Given the description of an element on the screen output the (x, y) to click on. 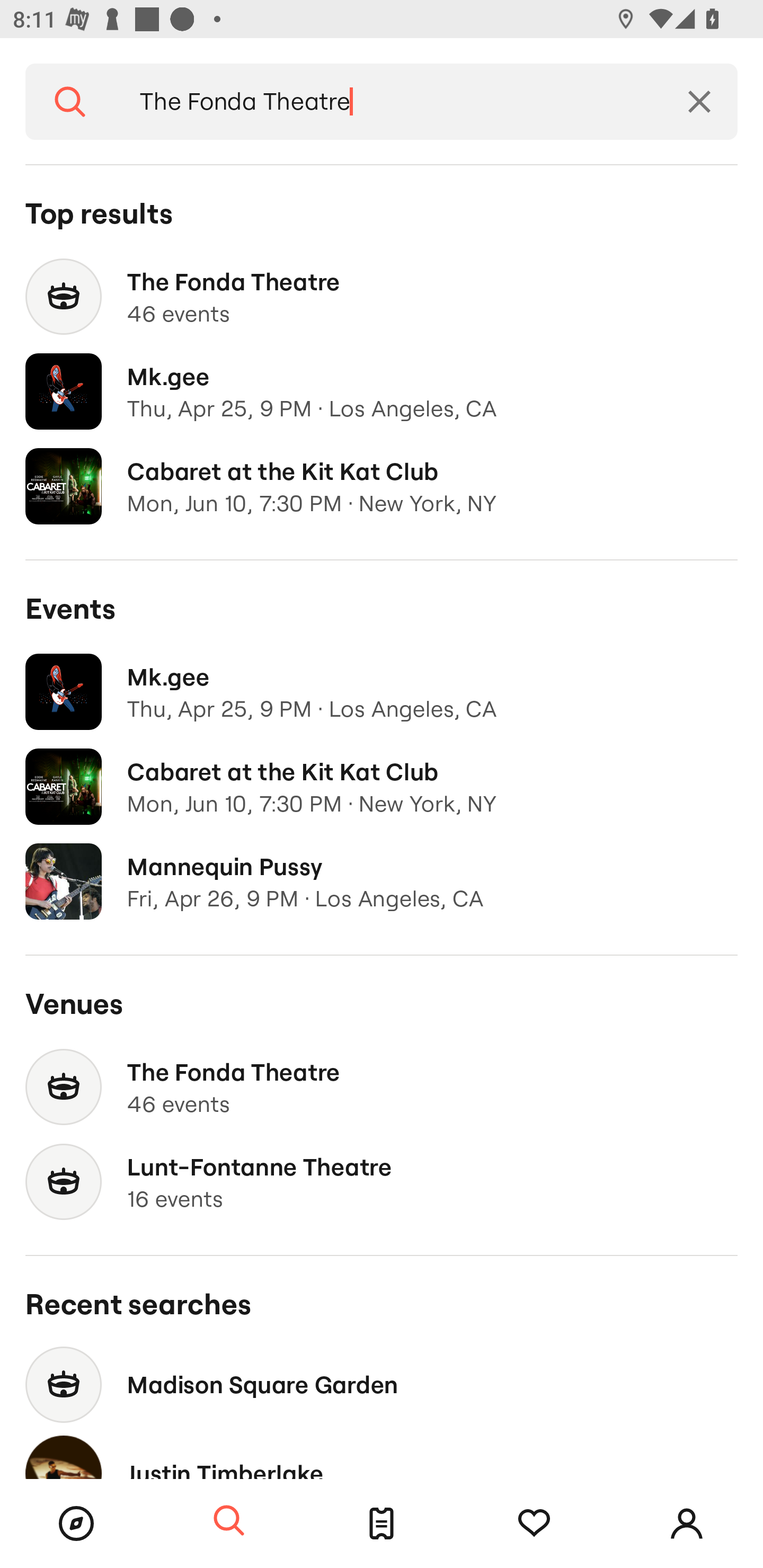
Search (69, 101)
The Fonda Theatre (387, 101)
Clear (699, 101)
The Fonda Theatre 46 events (381, 296)
Mk.gee Thu, Apr 25, 9 PM · Los Angeles, CA (381, 391)
Mk.gee Thu, Apr 25, 9 PM · Los Angeles, CA (381, 692)
The Fonda Theatre 46 events (381, 1087)
Lunt-Fontanne Theatre 16 events (381, 1182)
Madison Square Garden (381, 1384)
Browse (76, 1523)
Search (228, 1521)
Tickets (381, 1523)
Tracking (533, 1523)
Account (686, 1523)
